Given the description of an element on the screen output the (x, y) to click on. 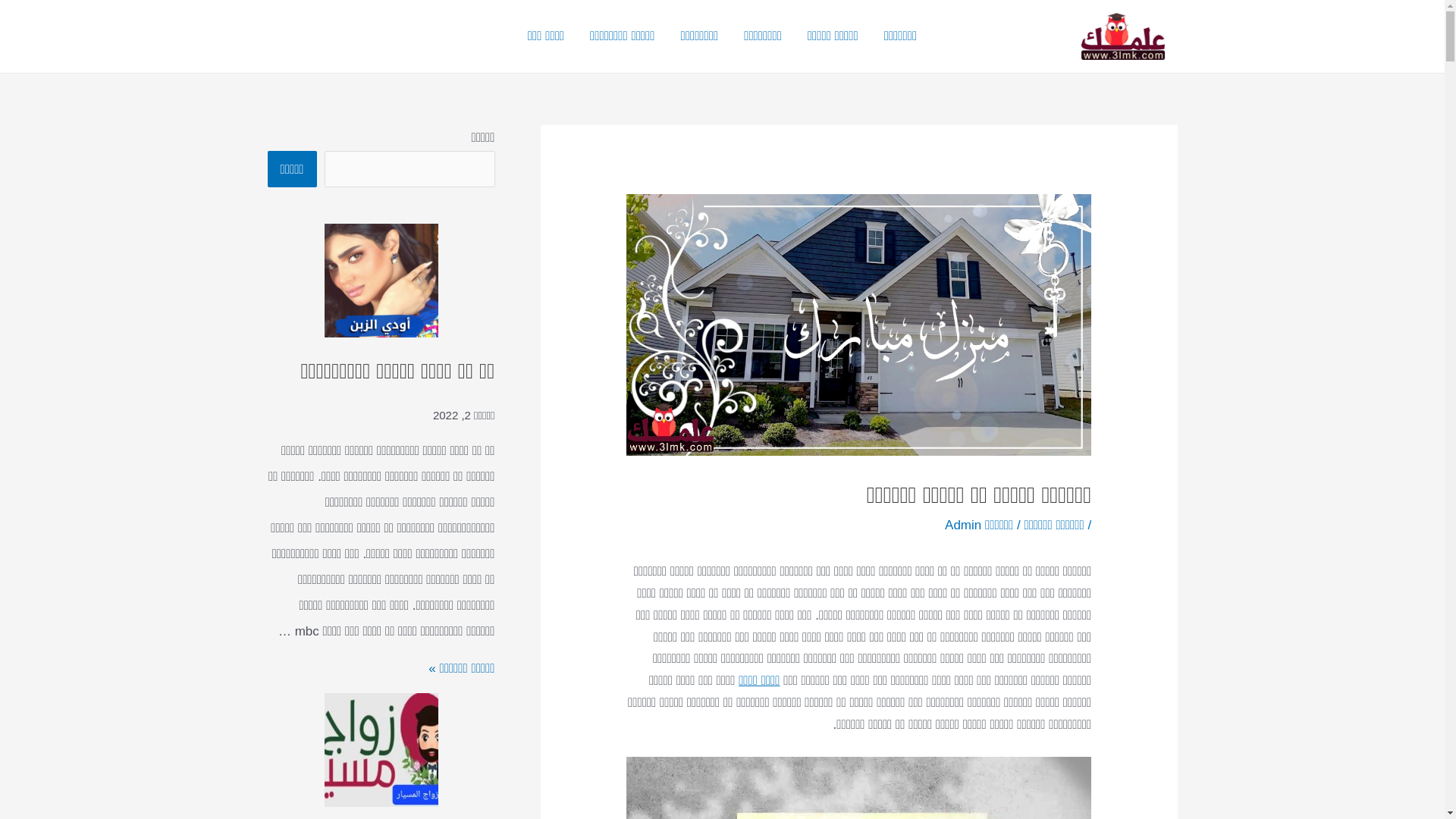
Admin Element type: text (962, 524)
